Given the description of an element on the screen output the (x, y) to click on. 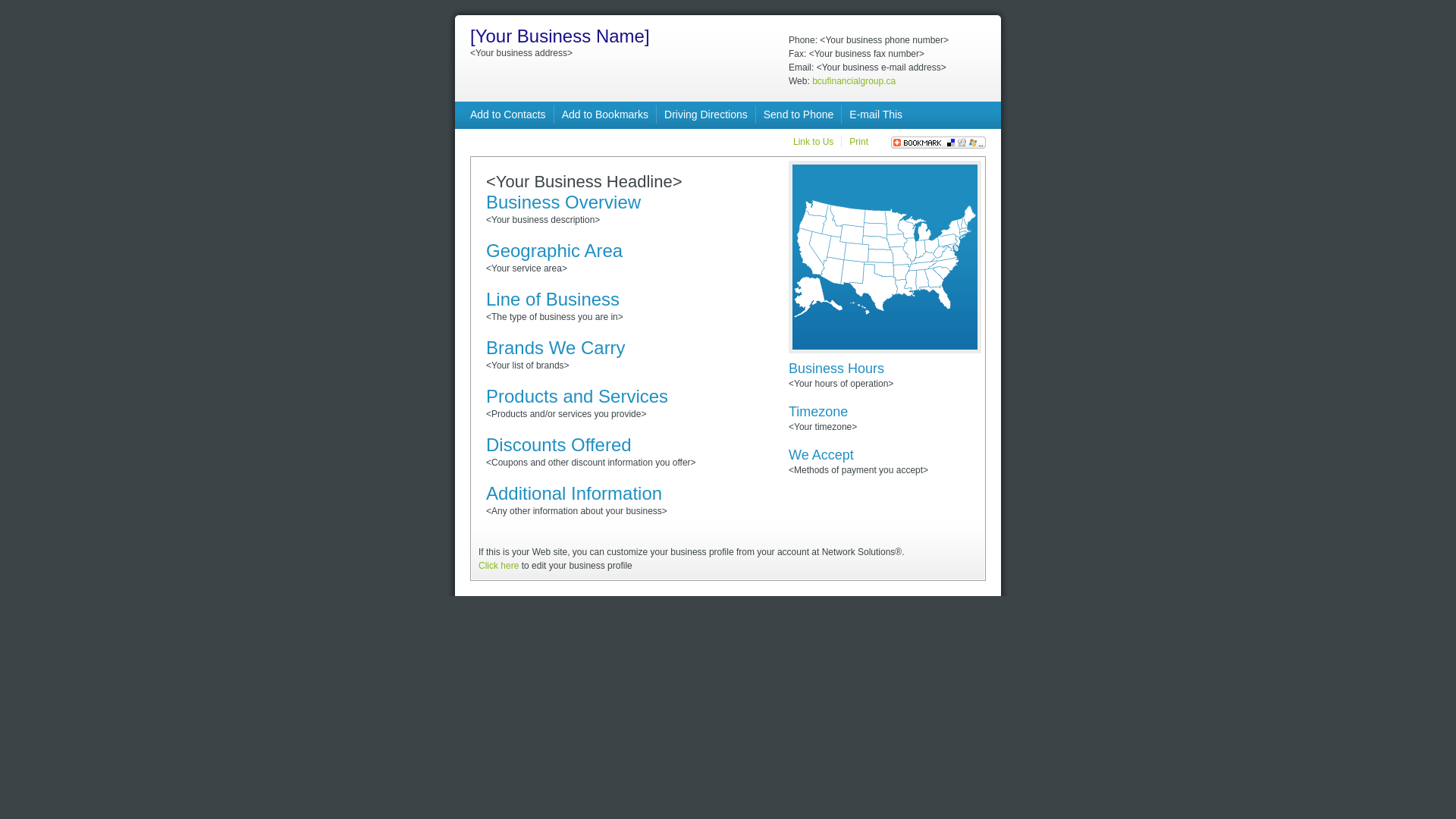
Link to Us Element type: text (813, 141)
Add to Bookmarks Element type: text (604, 114)
Click here Element type: text (498, 565)
bcufinancialgroup.ca Element type: text (853, 80)
Add to Contacts Element type: text (508, 114)
Driving Directions Element type: text (705, 114)
Print Element type: text (858, 141)
Send to Phone Element type: text (798, 114)
E-mail This Element type: text (875, 114)
